Given the description of an element on the screen output the (x, y) to click on. 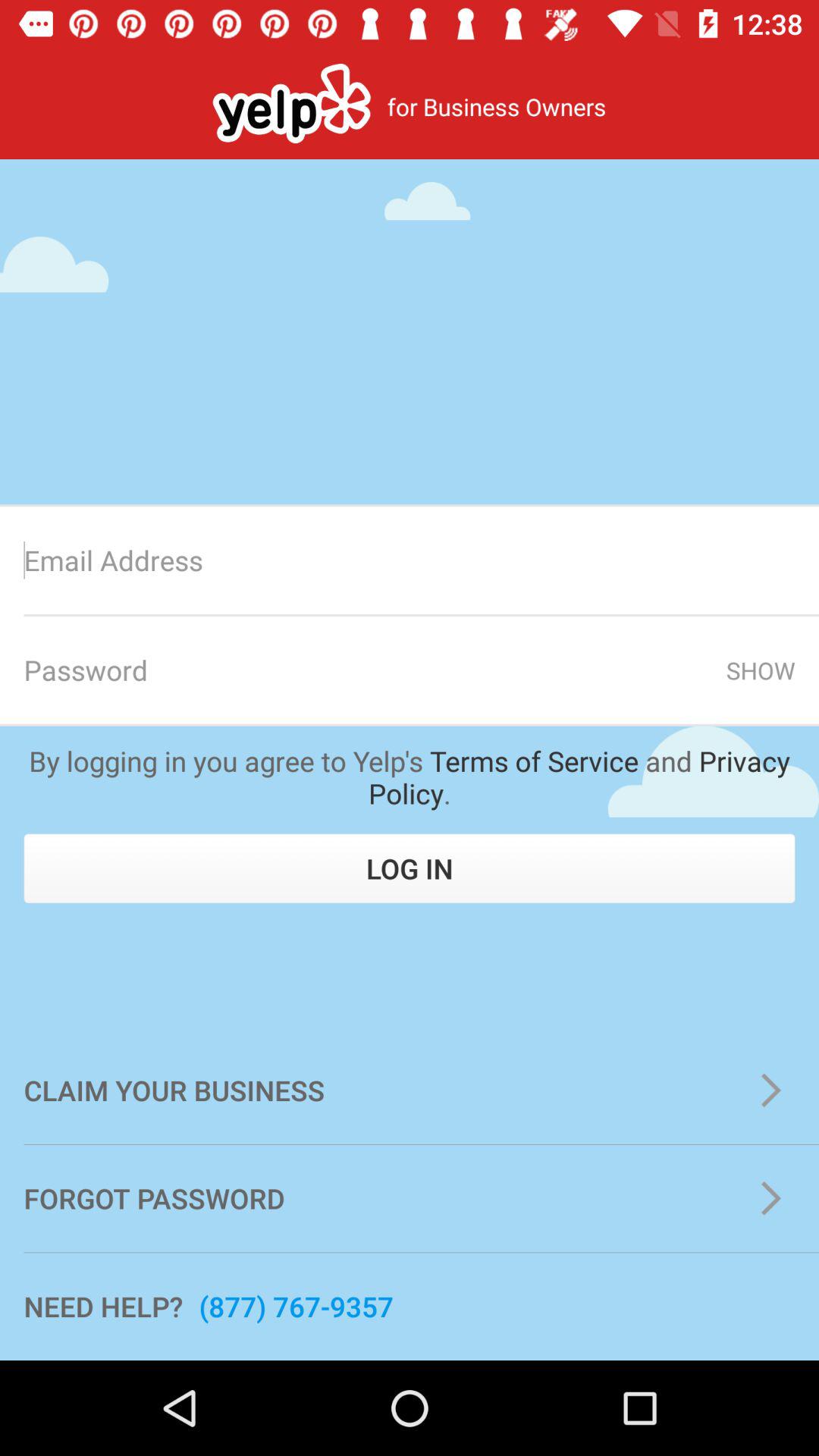
tap claim your business icon (409, 1090)
